Given the description of an element on the screen output the (x, y) to click on. 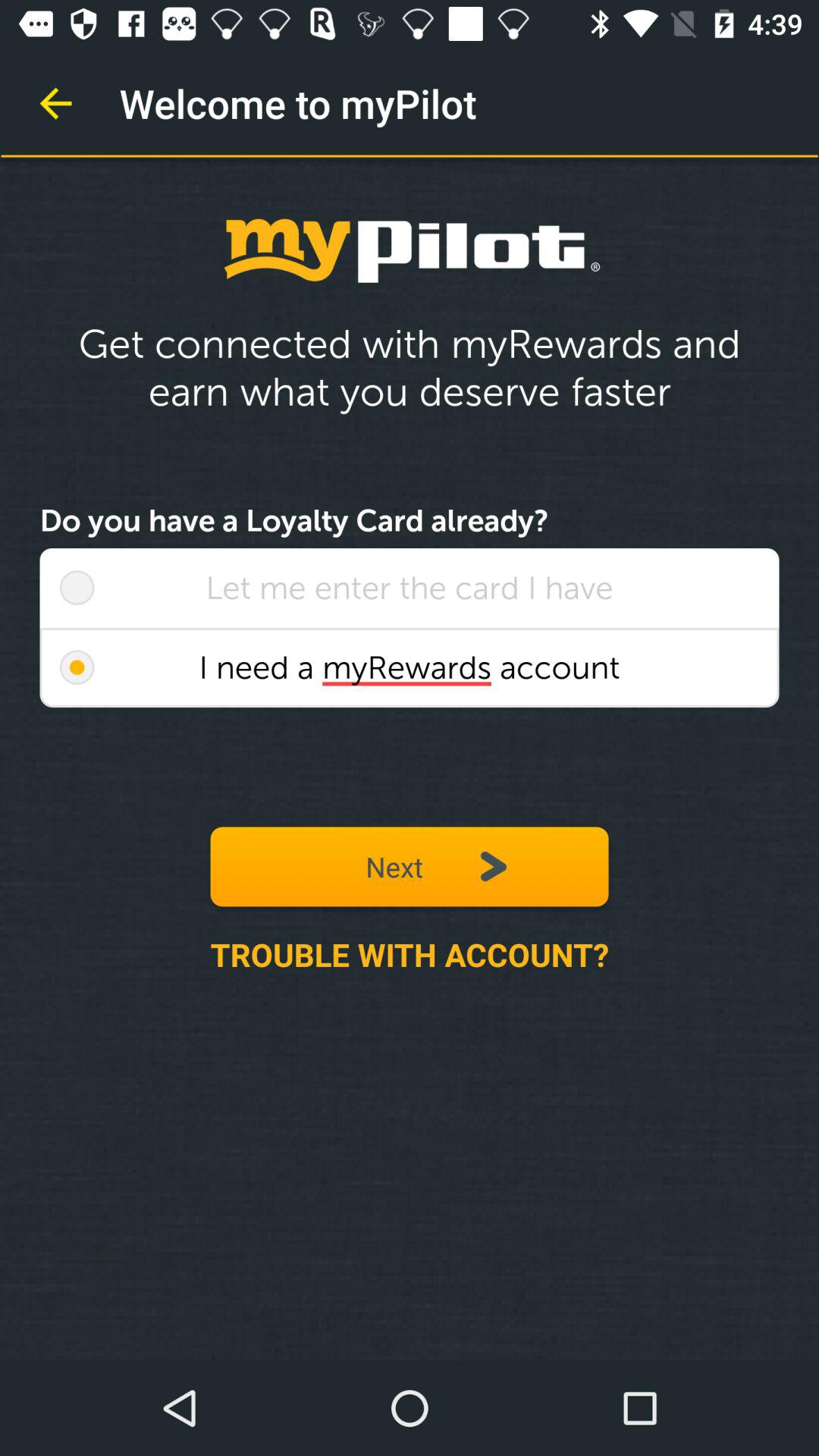
launch the app to the left of the welcome to mypilot icon (55, 103)
